Given the description of an element on the screen output the (x, y) to click on. 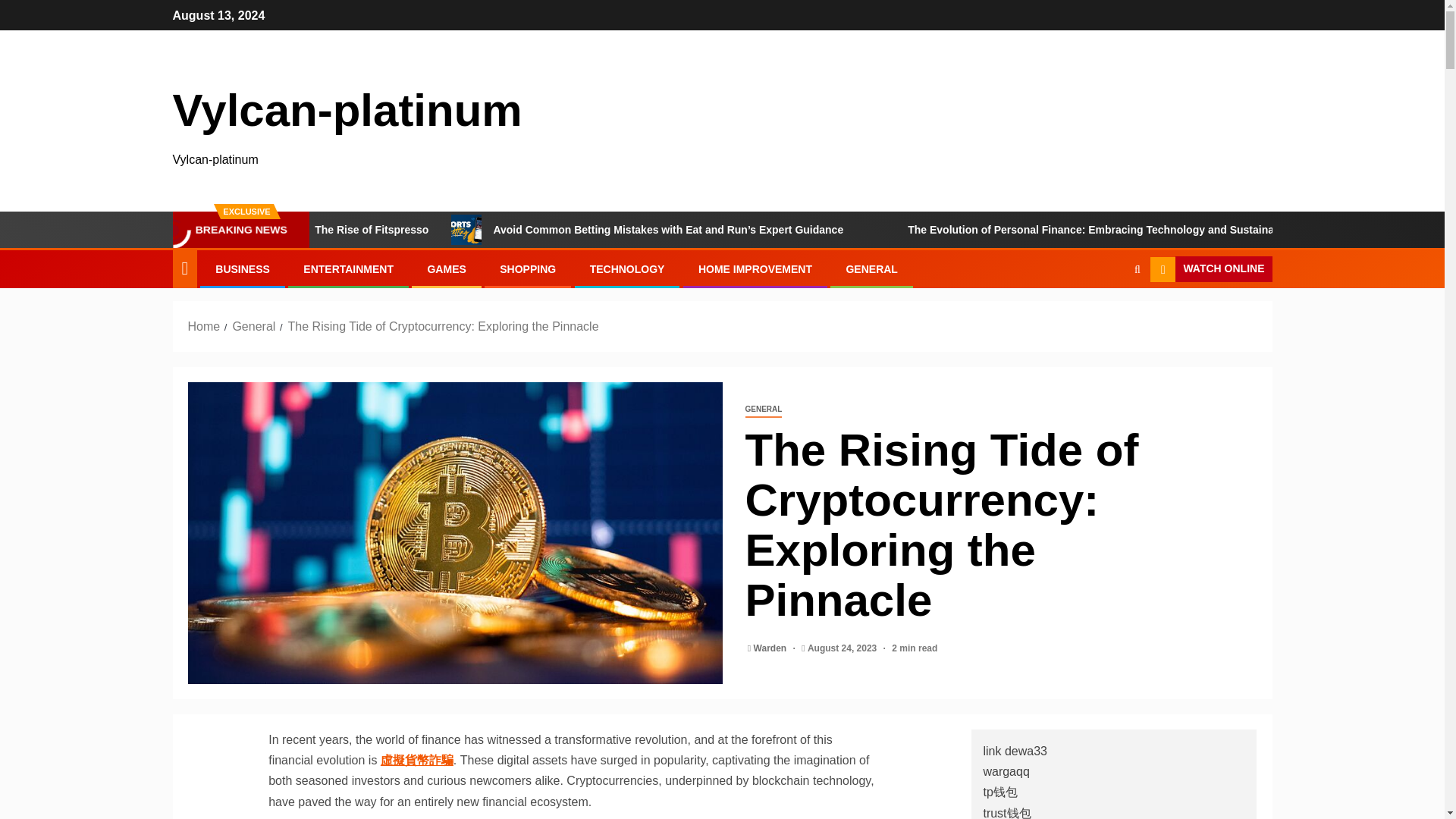
WATCH ONLINE (1210, 268)
GAMES (445, 268)
GENERAL (762, 409)
Unlocking Wellness: The Rise of Fitspresso (451, 229)
GENERAL (870, 268)
General (253, 326)
Home (204, 326)
ENTERTAINMENT (347, 268)
TECHNOLOGY (627, 268)
The Rising Tide of Cryptocurrency: Exploring the Pinnacle (443, 326)
